Given the description of an element on the screen output the (x, y) to click on. 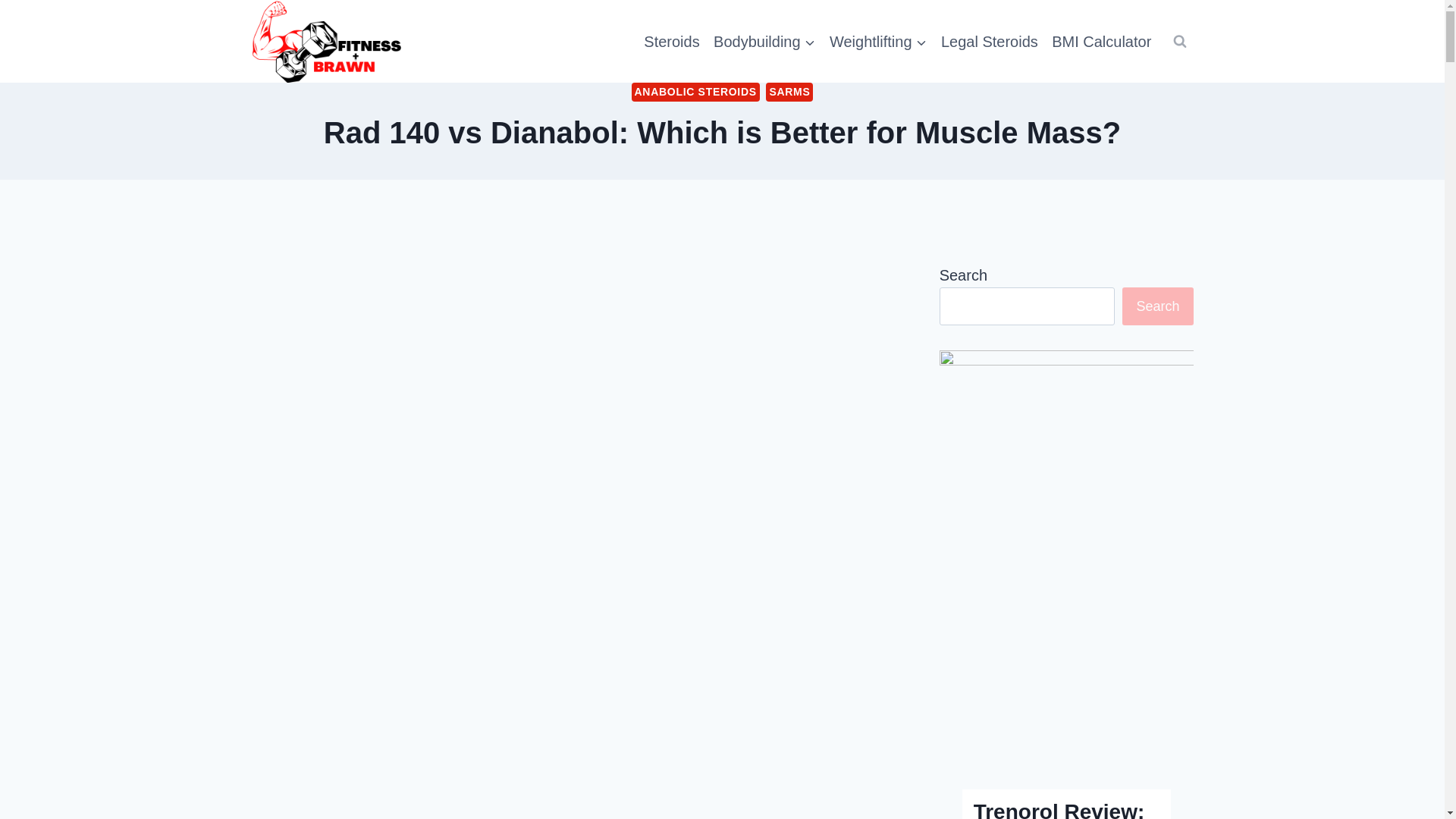
ANABOLIC STEROIDS (695, 91)
Weightlifting (878, 41)
BMI Calculator (1101, 41)
Steroids (671, 41)
Bodybuilding (764, 41)
SARMS (788, 91)
Legal Steroids (989, 41)
